Given the description of an element on the screen output the (x, y) to click on. 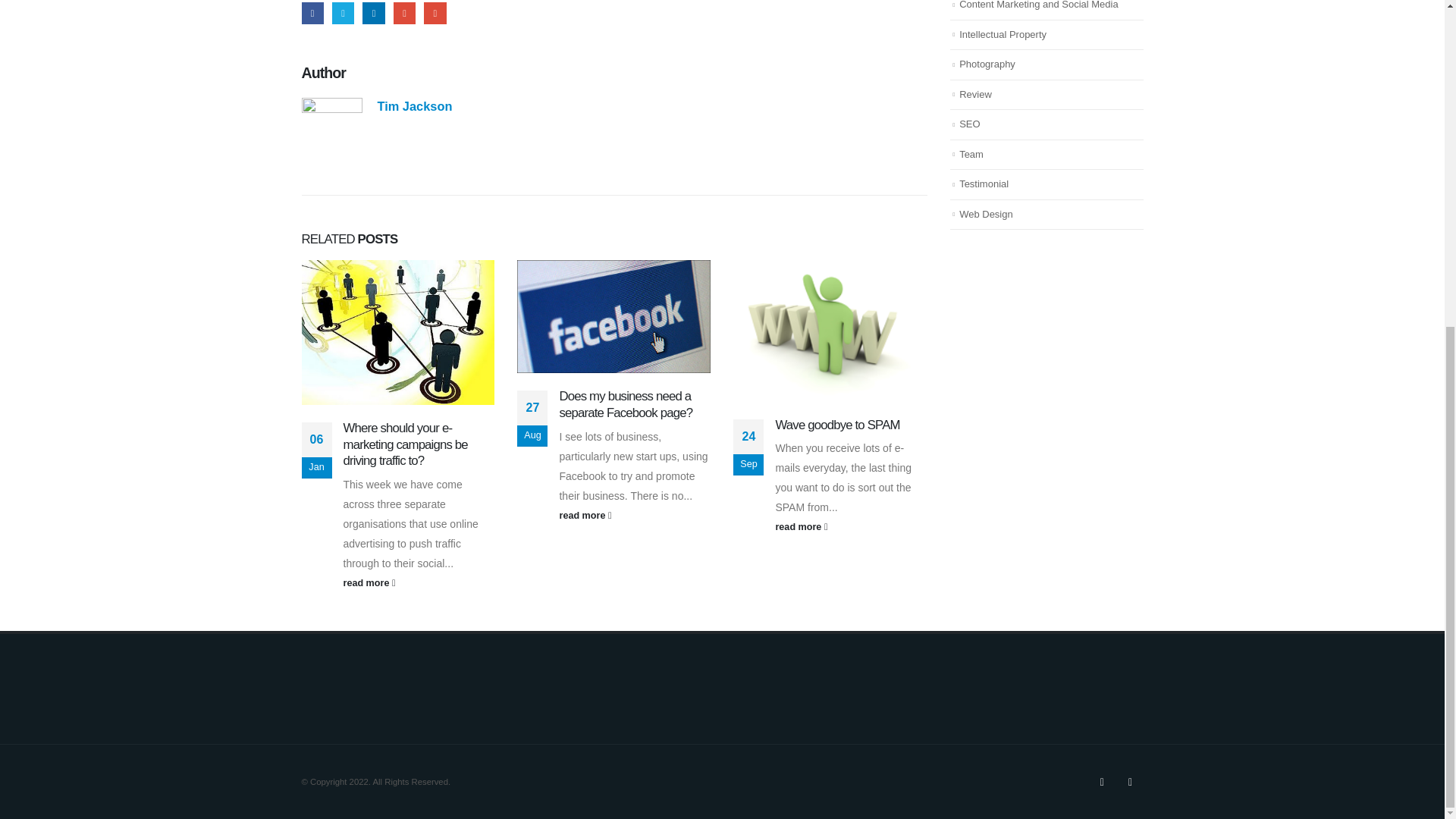
read more (850, 526)
Linkedin (1130, 781)
Email (434, 13)
read more (634, 515)
Twitter (1101, 781)
Facebook (312, 13)
LinkedIn (373, 13)
Posts by Tim Jackson (414, 106)
Twitter (342, 13)
read more (418, 582)
Tim Jackson (414, 106)
Facebook (312, 13)
LinkedIn (373, 13)
Wave goodbye to SPAM (836, 424)
